Given the description of an element on the screen output the (x, y) to click on. 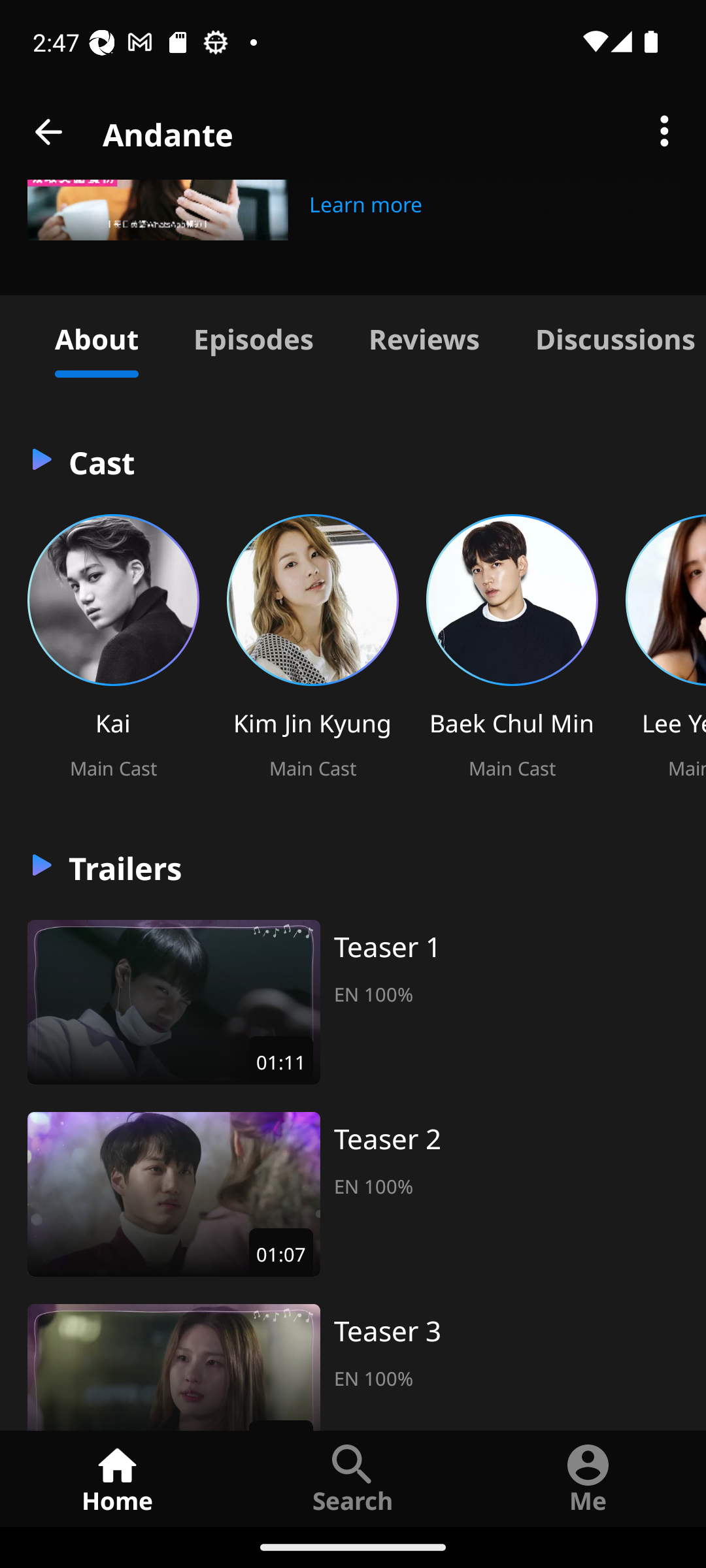
More (664, 131)
Learn more (365, 202)
Episodes (252, 335)
Reviews (423, 335)
Discussions (606, 335)
Search (352, 1478)
Me (588, 1478)
